Given the description of an element on the screen output the (x, y) to click on. 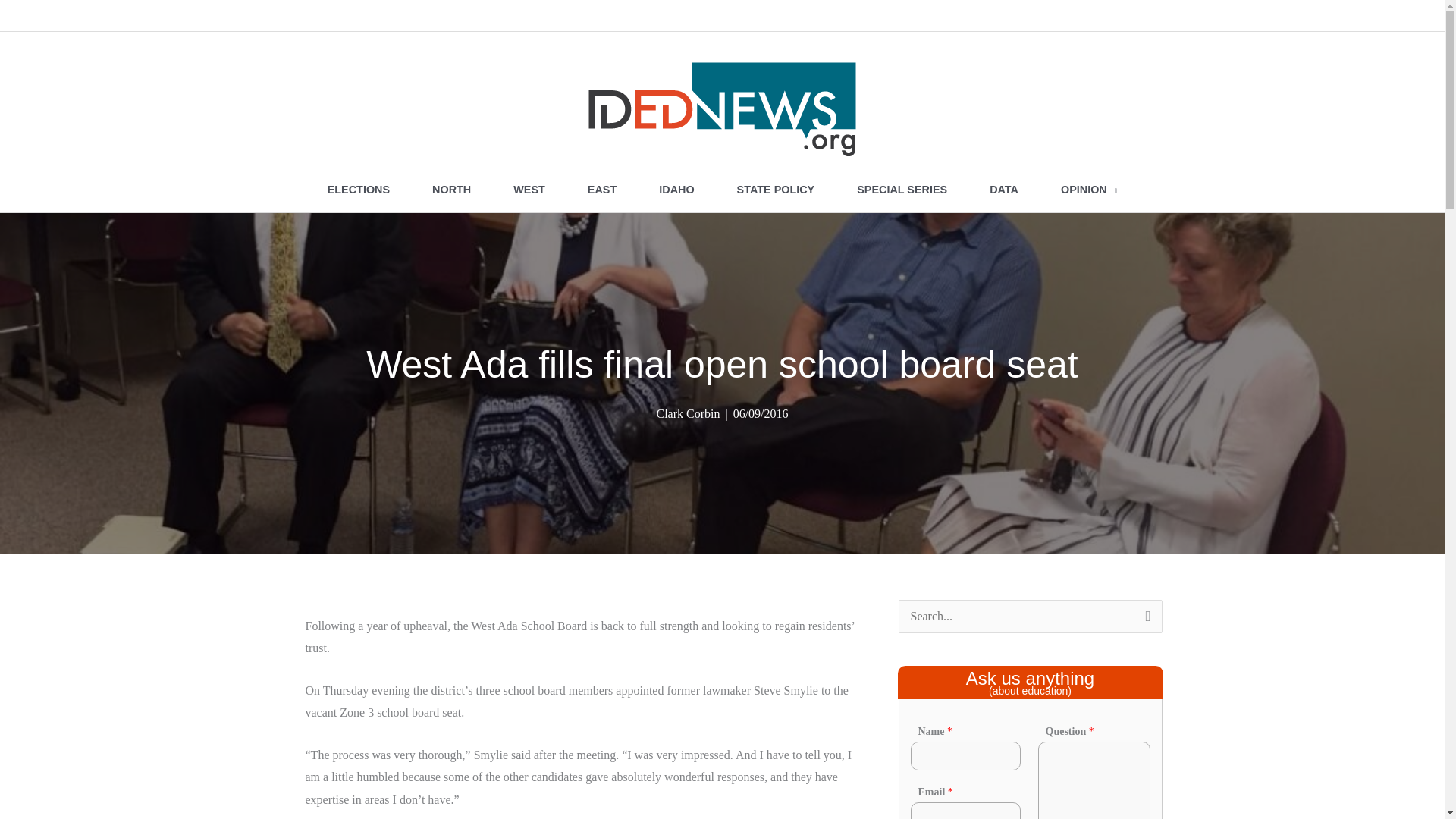
IDAHO (675, 190)
Clark Corbin (687, 413)
STATE POLICY (775, 190)
ELECTIONS (357, 190)
DATA (1003, 190)
SPECIAL SERIES (901, 190)
EAST (601, 190)
NORTH (451, 190)
OPINION (1088, 190)
WEST (529, 190)
